Given the description of an element on the screen output the (x, y) to click on. 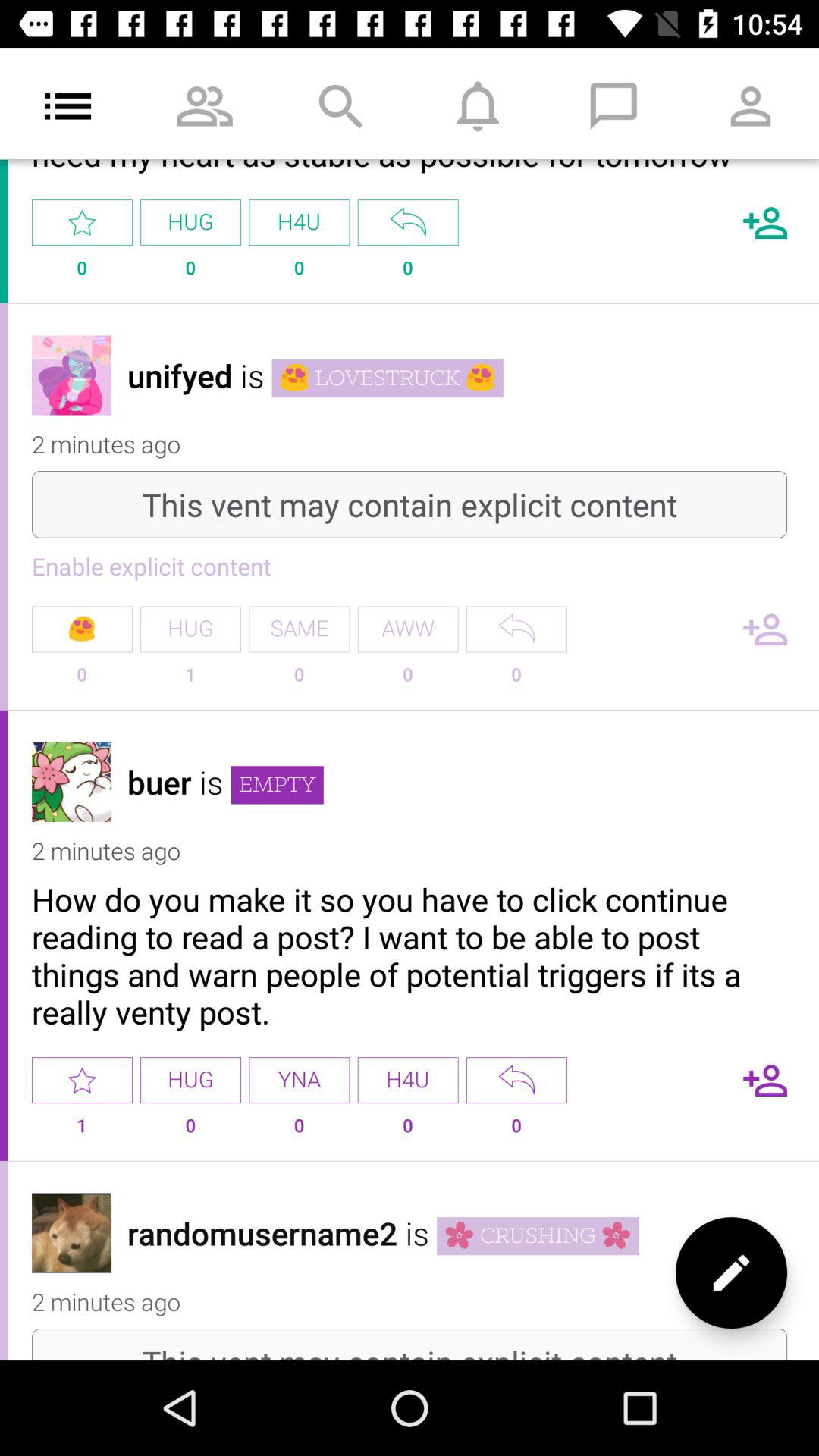
like status (81, 1080)
